Given the description of an element on the screen output the (x, y) to click on. 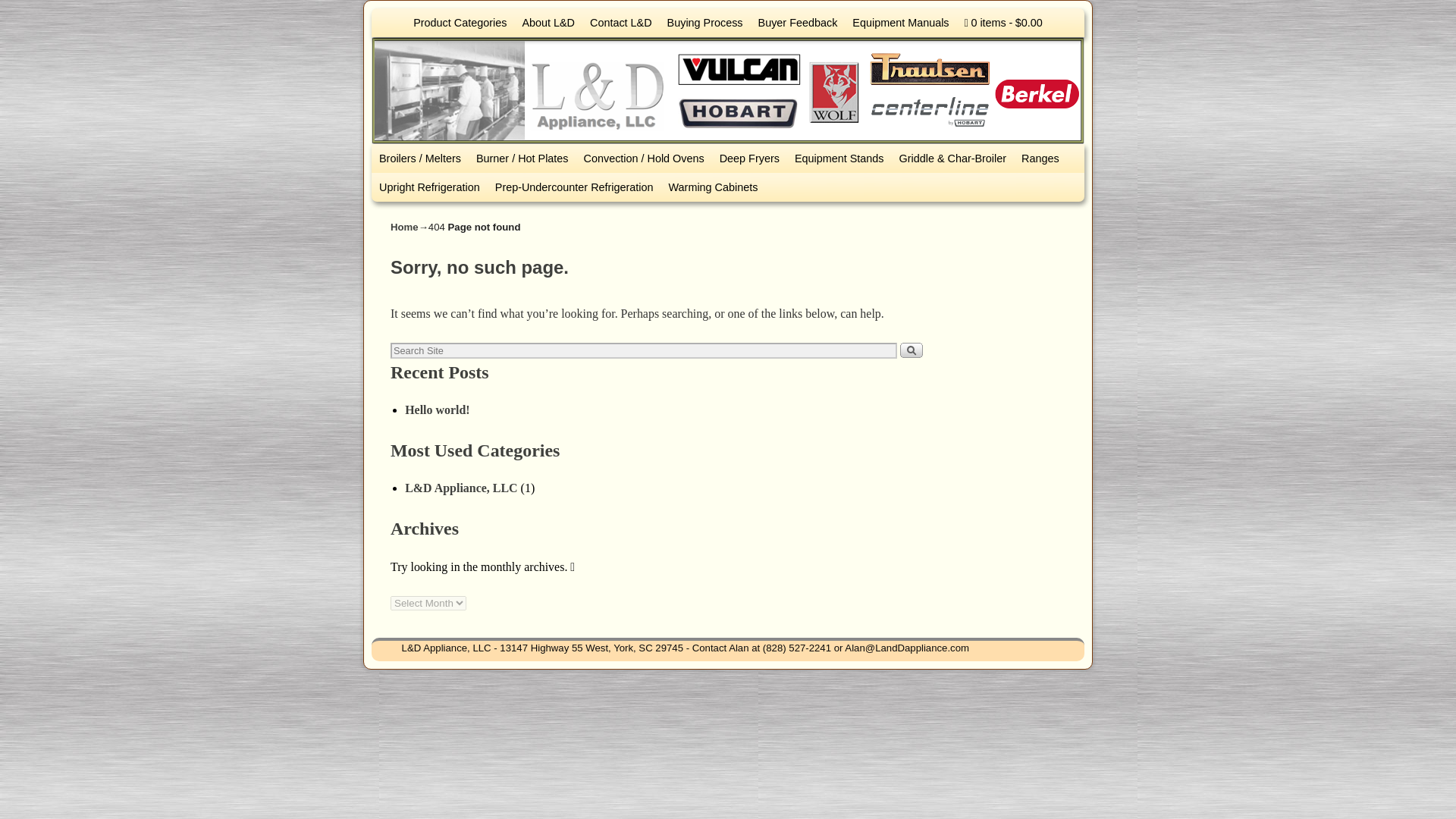
Product Categories (459, 22)
Equipment Stands (839, 158)
Home (404, 226)
Deep Fryers (749, 158)
Buyer Feedback (798, 22)
Buying Process (705, 22)
Hello world! (437, 409)
Warming Cabinets (713, 186)
Skip to primary content (417, 15)
Prep-Undercounter Refrigeration (574, 186)
Skip to secondary content (421, 15)
Equipment Manuals (900, 22)
Start shopping (1002, 22)
Ranges (1040, 158)
Upright Refrigeration (429, 186)
